Given the description of an element on the screen output the (x, y) to click on. 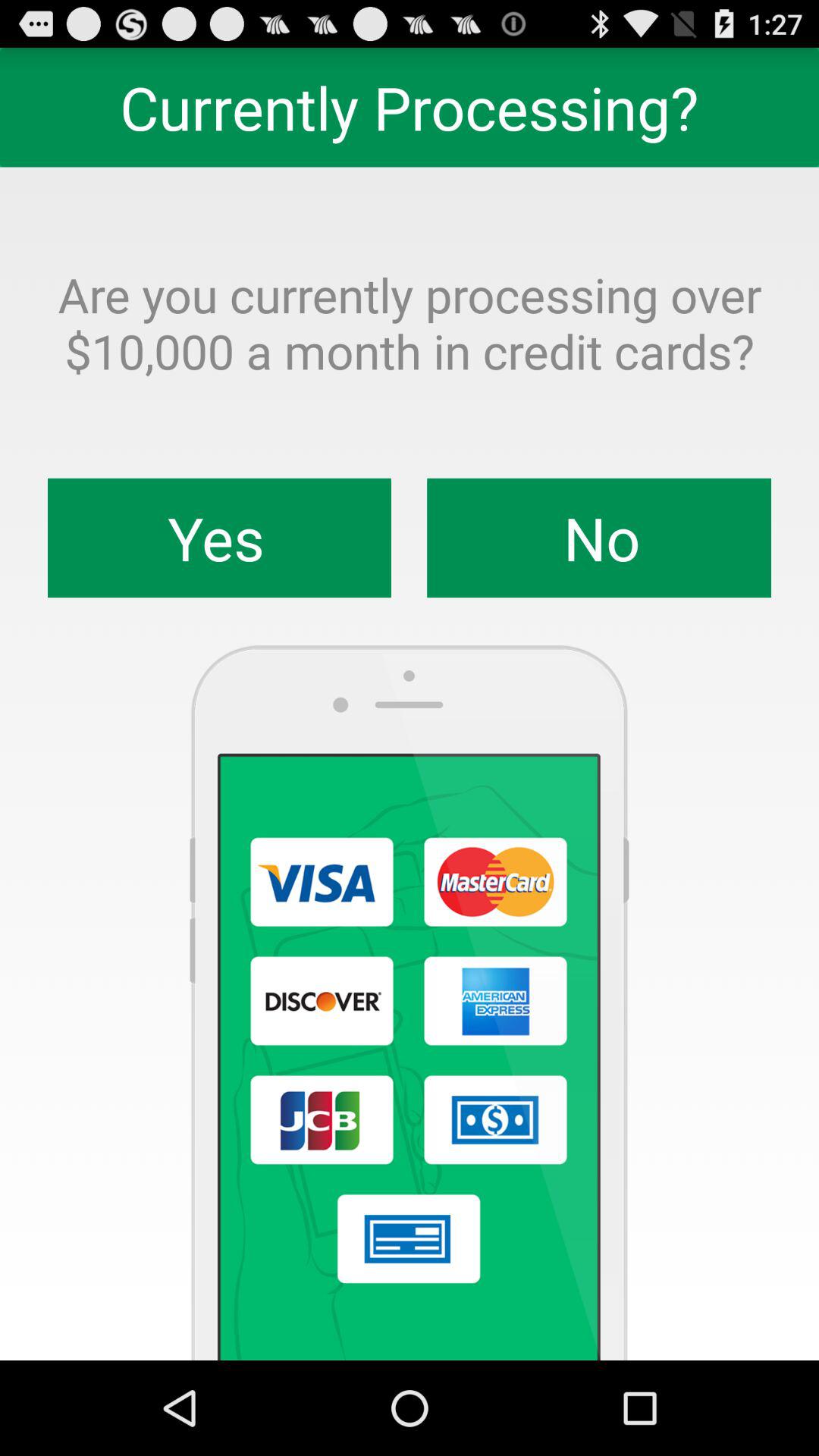
turn on no (599, 537)
